Given the description of an element on the screen output the (x, y) to click on. 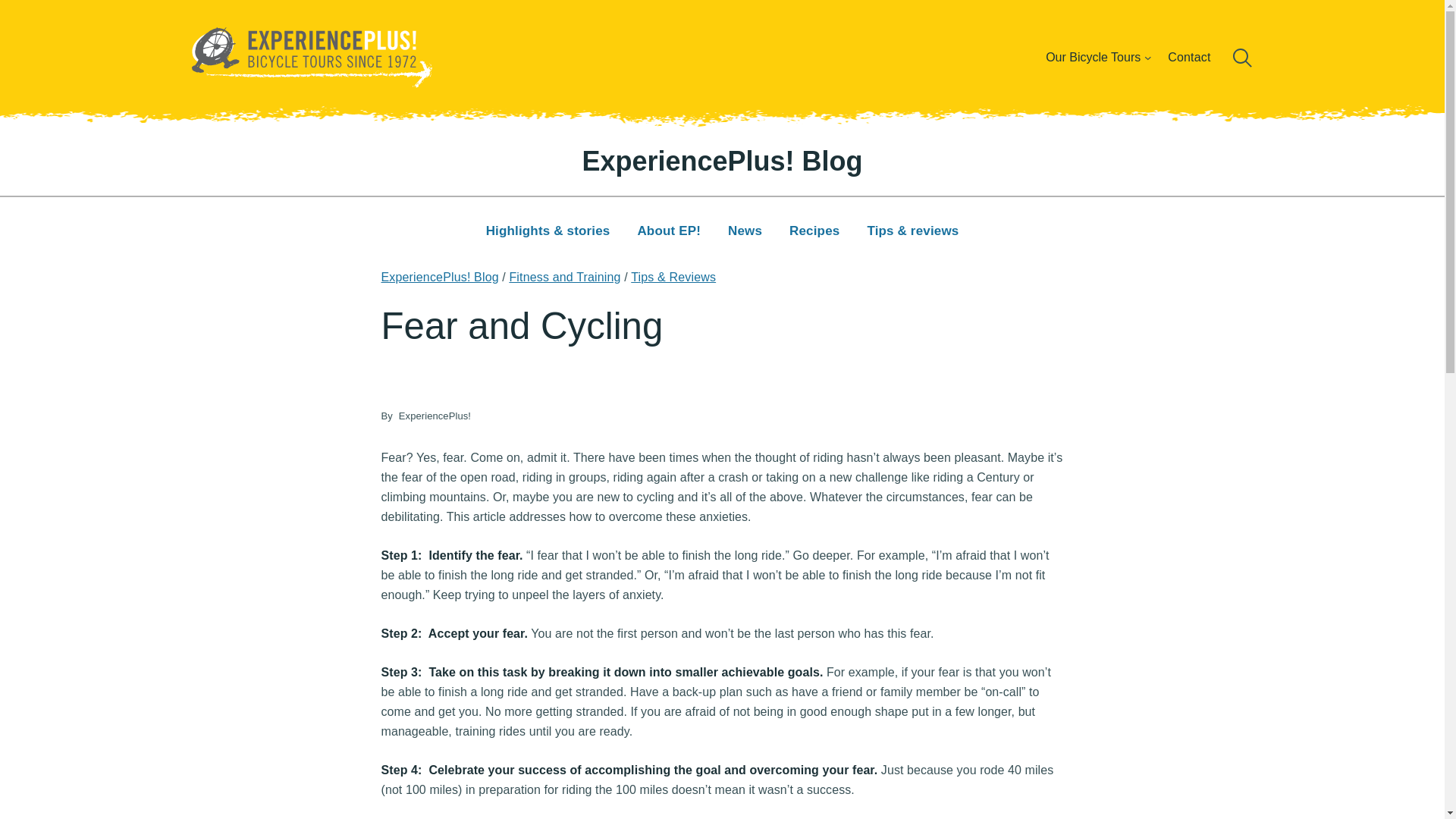
Fitness and Training (564, 277)
News (745, 232)
Contact (1188, 57)
About EP! (667, 232)
Recipes (814, 232)
ExperiencePlus! Blog (438, 277)
Our Bicycle Tours (1093, 56)
